Given the description of an element on the screen output the (x, y) to click on. 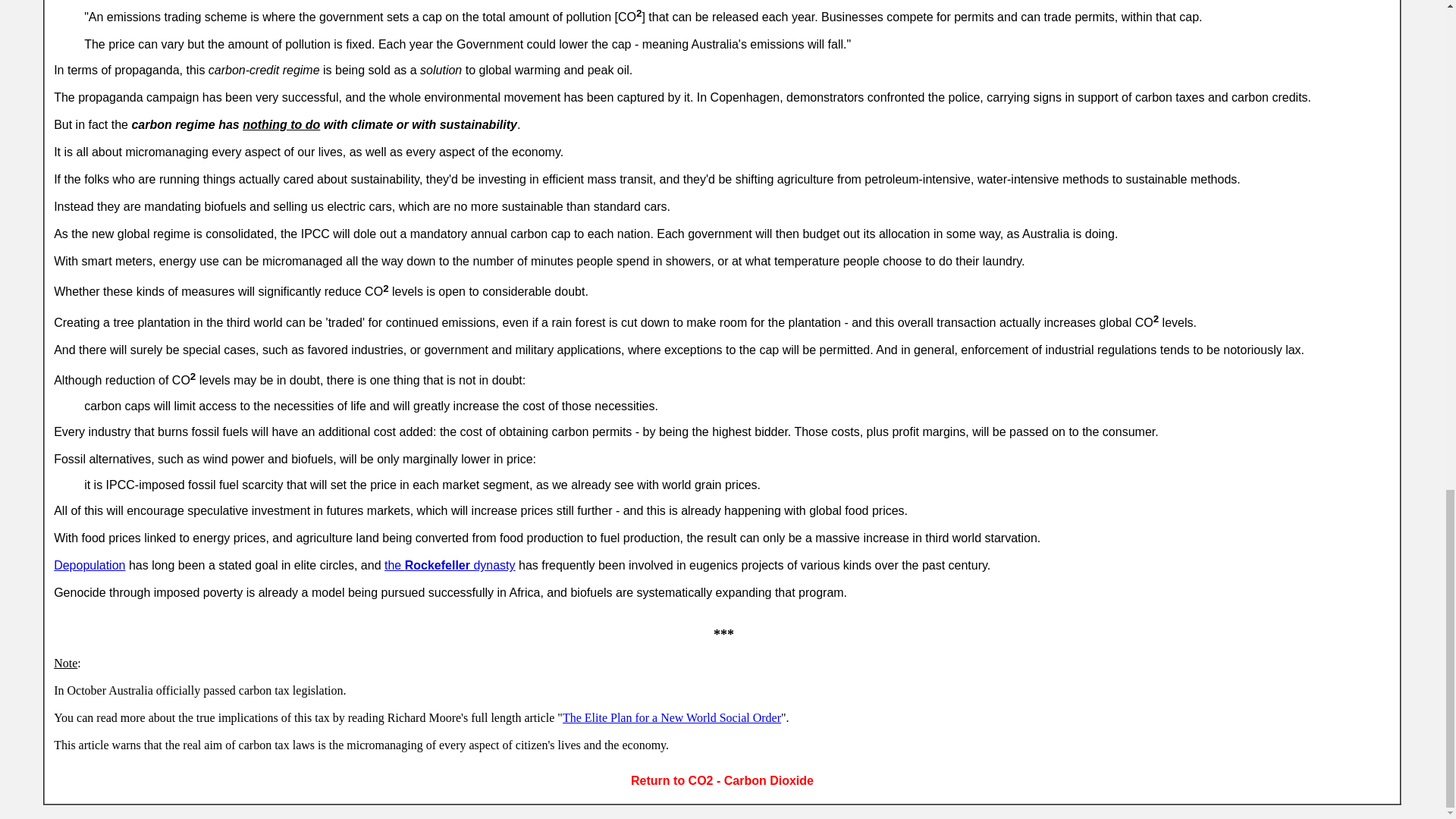
The Elite Plan for a New World Social Order (671, 717)
Depopulation (89, 564)
the Rockefeller dynasty (449, 564)
Return to CO2 - Carbon Dioxide (721, 780)
